Given the description of an element on the screen output the (x, y) to click on. 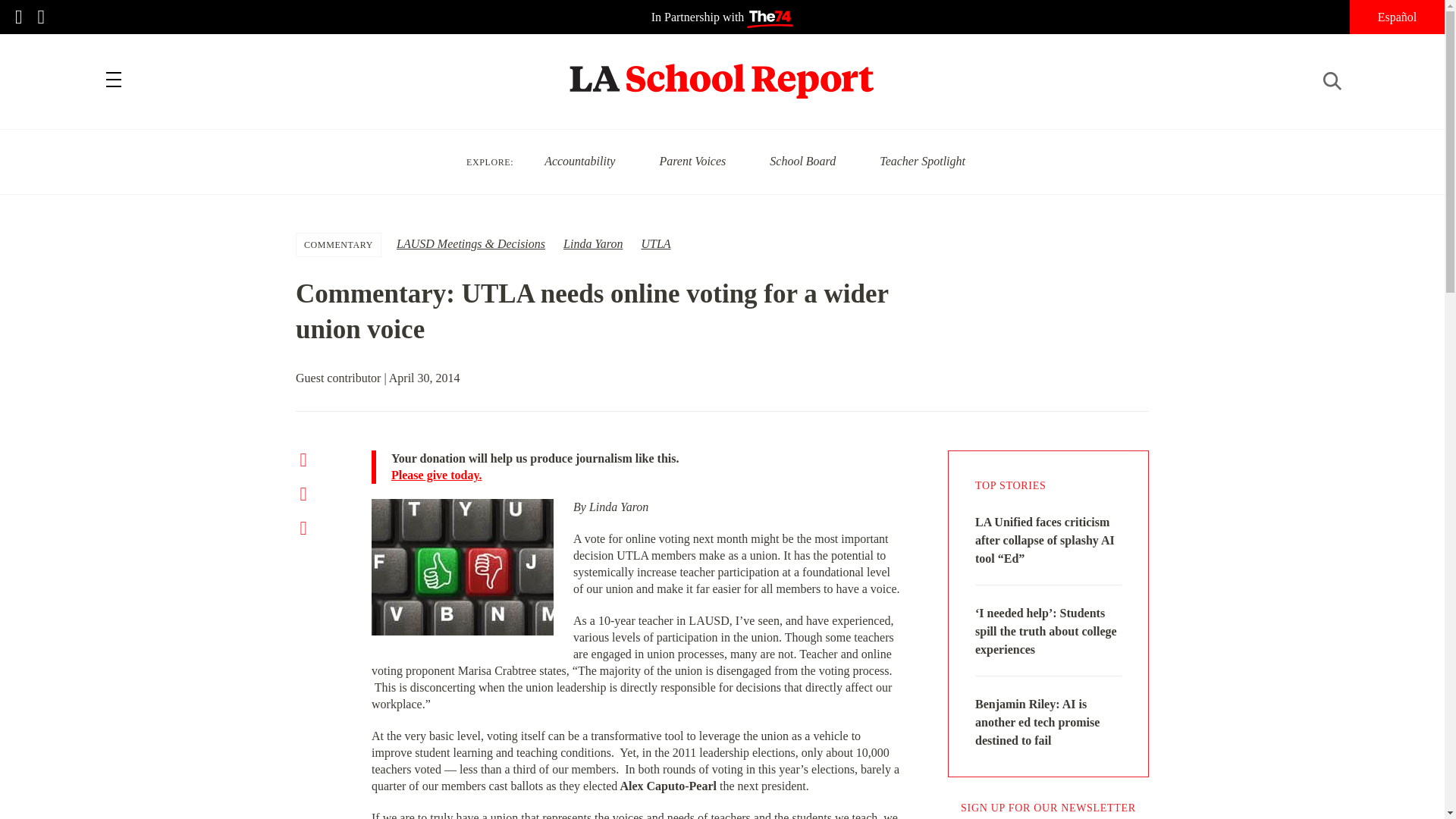
COMMENTARY (338, 244)
UTLA (654, 243)
School Board (802, 160)
LA School Report (721, 71)
Parent Voices (692, 160)
In Partnership with 74 (721, 16)
Linda Yaron (593, 243)
Accountability (579, 160)
Teacher Spotlight (922, 160)
Please give today. (646, 475)
